Given the description of an element on the screen output the (x, y) to click on. 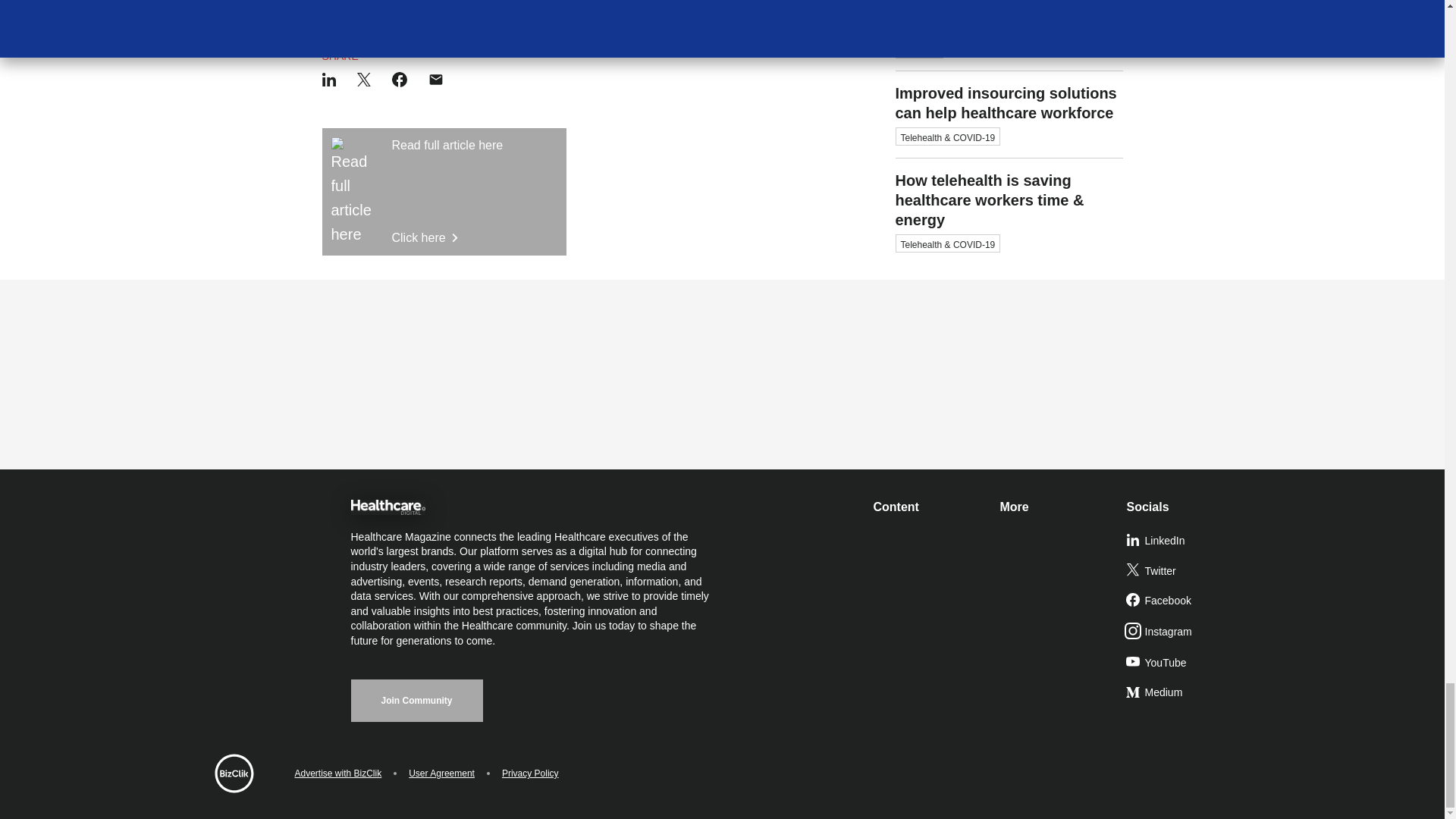
User Agreement (441, 773)
Twitter (1182, 571)
Join Community (415, 700)
YouTube (1182, 663)
Instagram (1182, 632)
LEUKAEMIA (351, 2)
Facebook (1182, 601)
Medium (1182, 693)
Advertise with BizClik (443, 191)
